Given the description of an element on the screen output the (x, y) to click on. 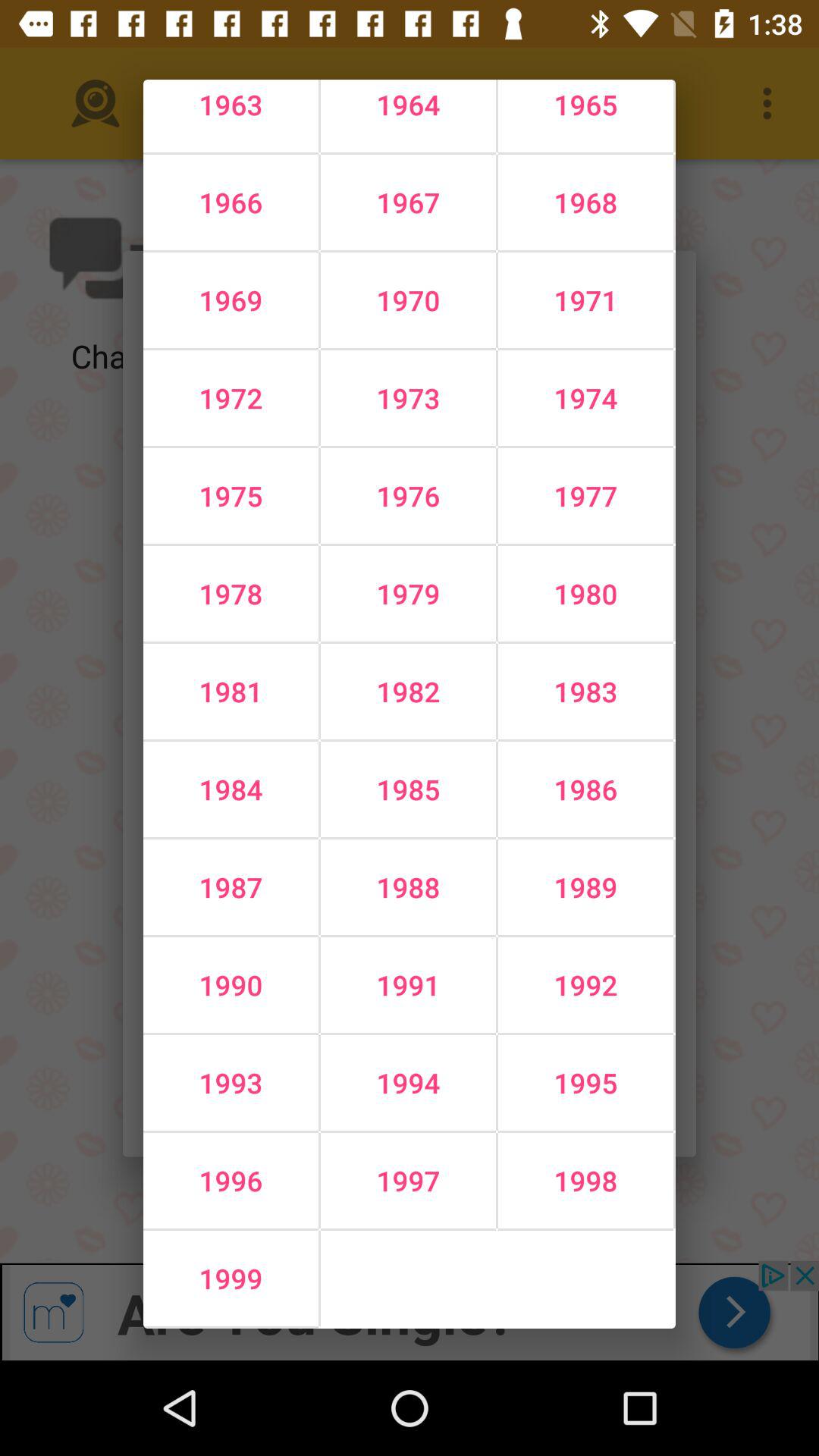
turn off 1972 icon (230, 397)
